Given the description of an element on the screen output the (x, y) to click on. 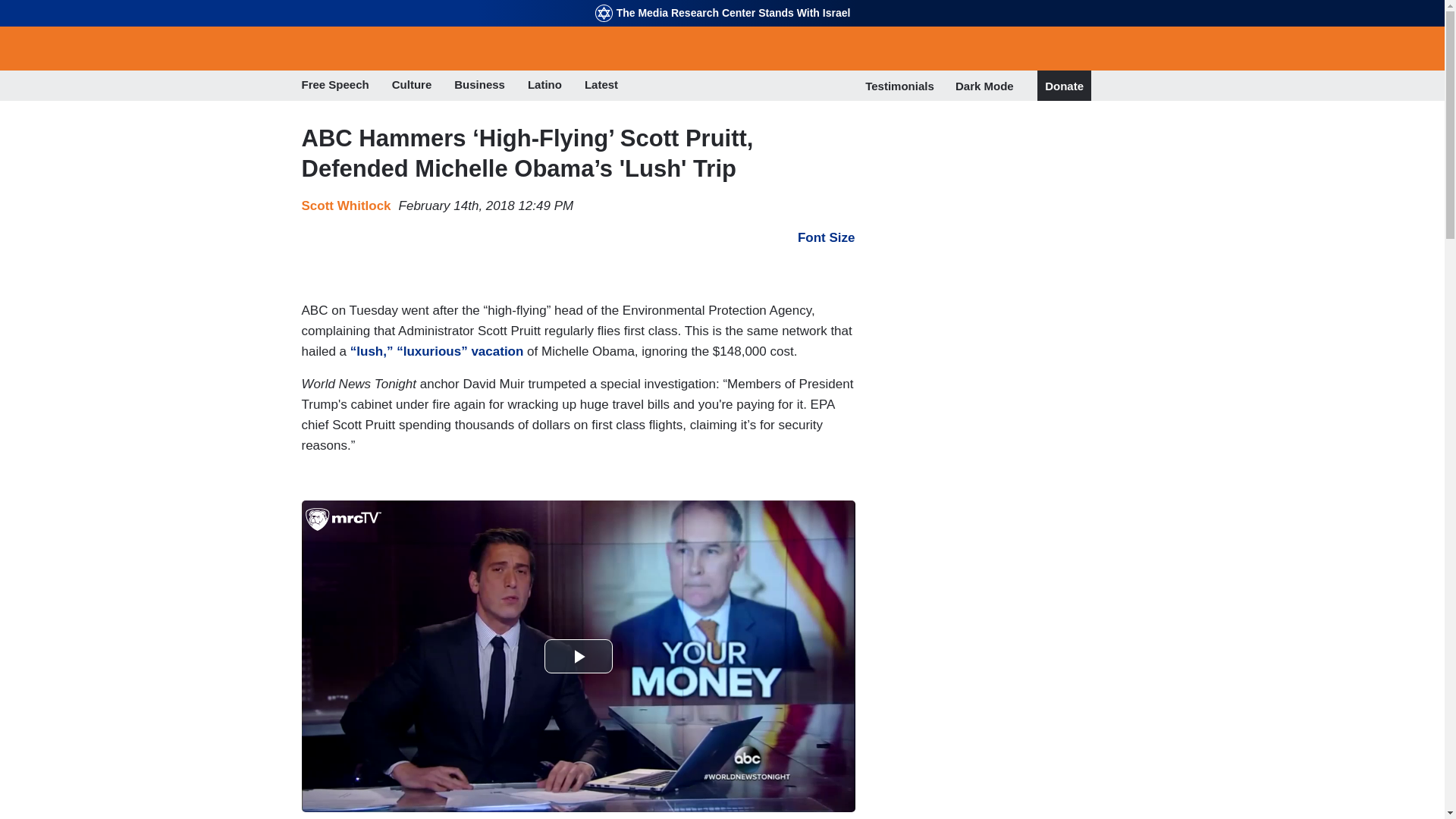
Donate (1064, 86)
Dark Mode (984, 85)
Latest (601, 85)
Latino (544, 85)
Business (479, 85)
Testimonials (899, 85)
Culture (411, 85)
Free Speech (335, 85)
Skip to main content (721, 1)
